Given the description of an element on the screen output the (x, y) to click on. 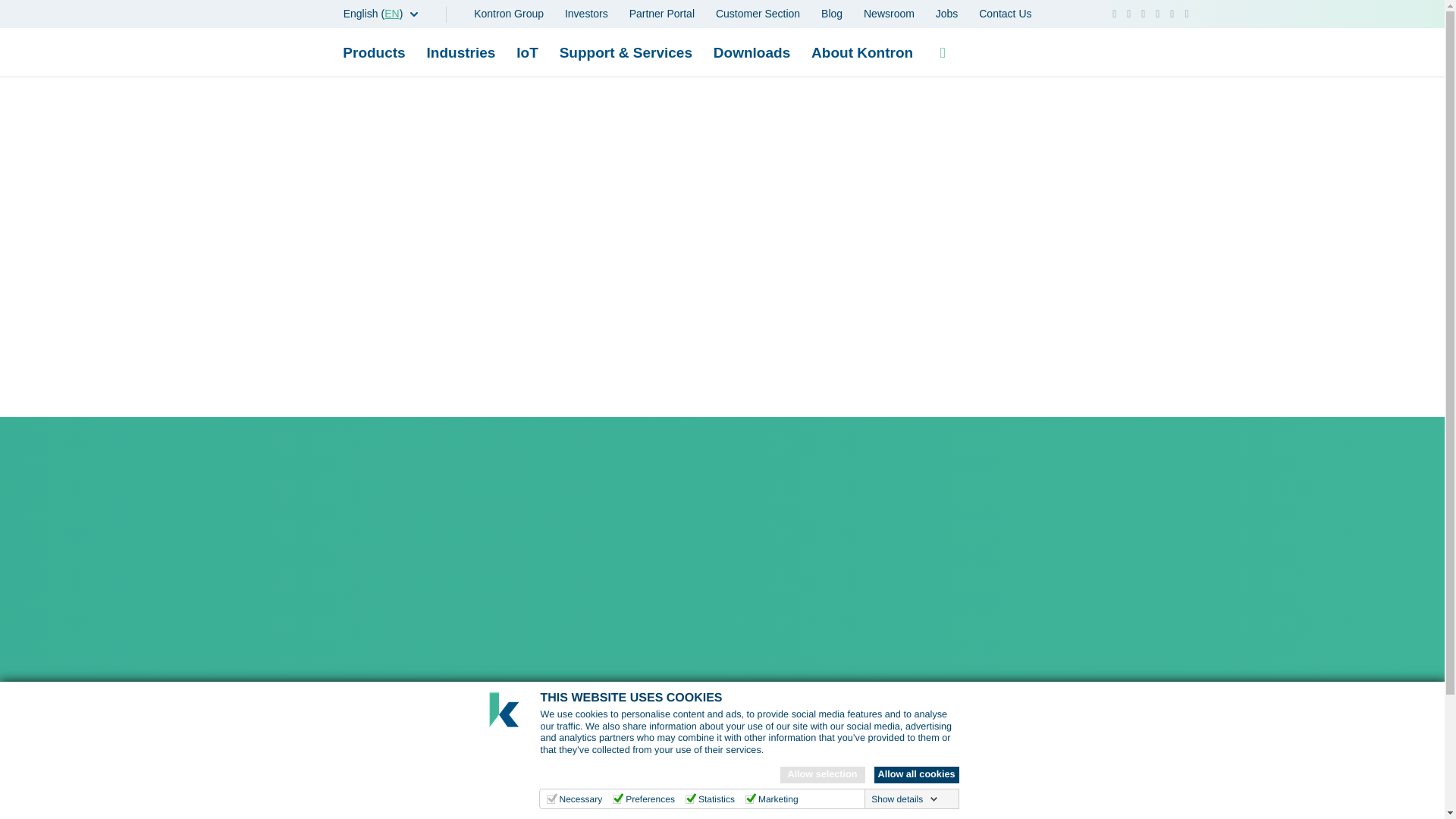
Show details (903, 799)
Allow selection (821, 774)
Allow all cookies (915, 774)
